Given the description of an element on the screen output the (x, y) to click on. 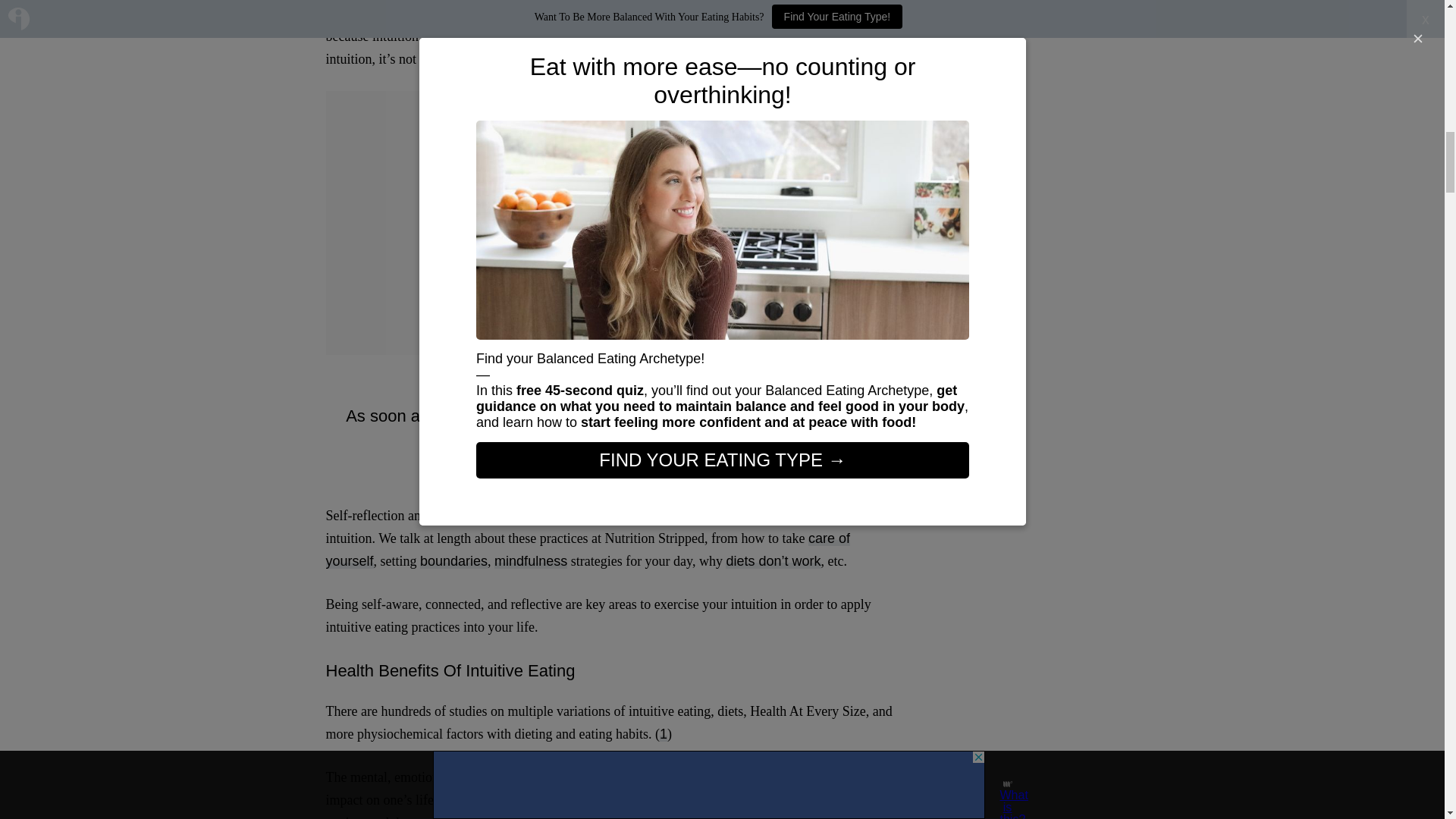
3rd party ad content (614, 231)
